Given the description of an element on the screen output the (x, y) to click on. 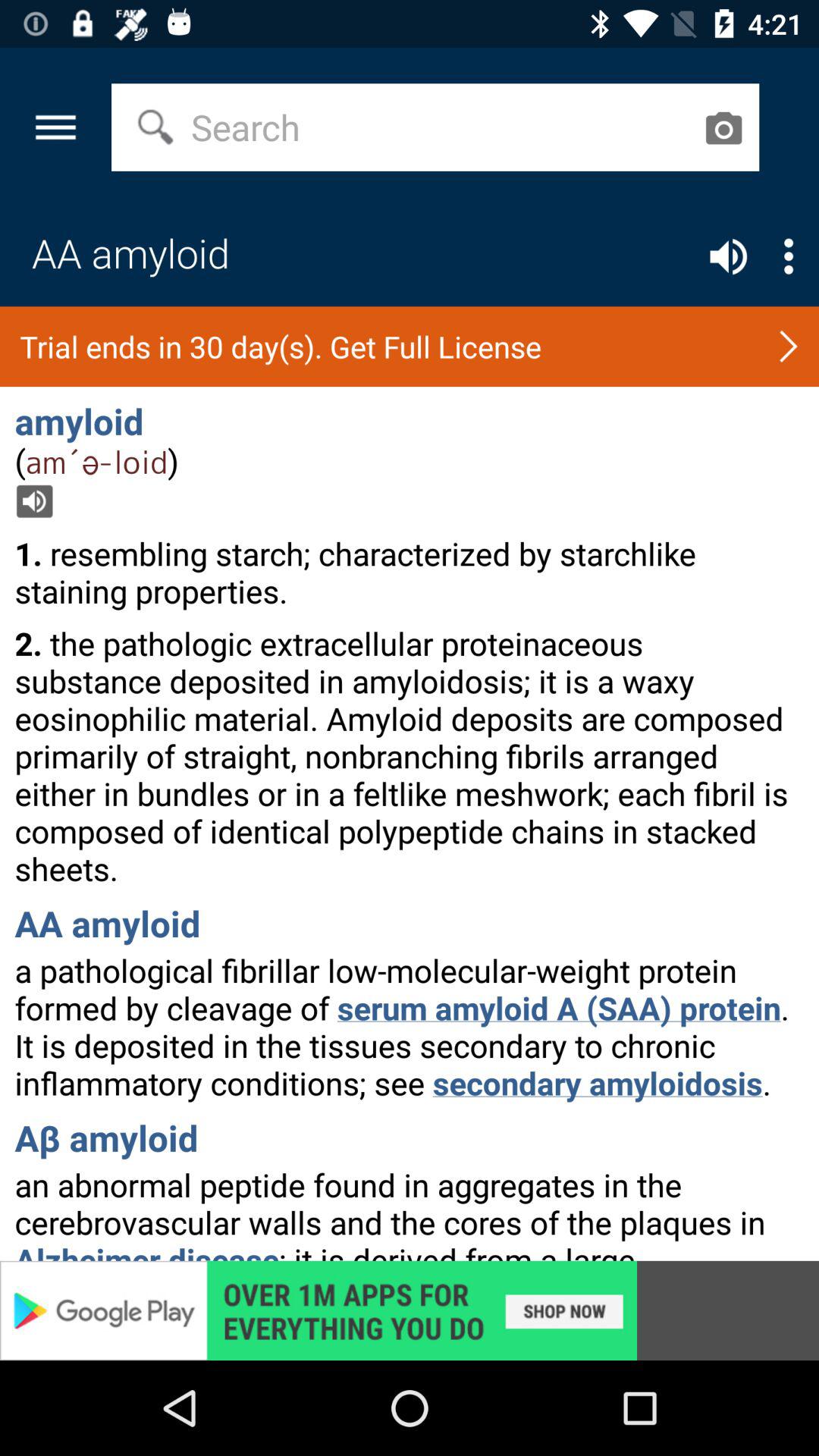
open settings (788, 256)
